Given the description of an element on the screen output the (x, y) to click on. 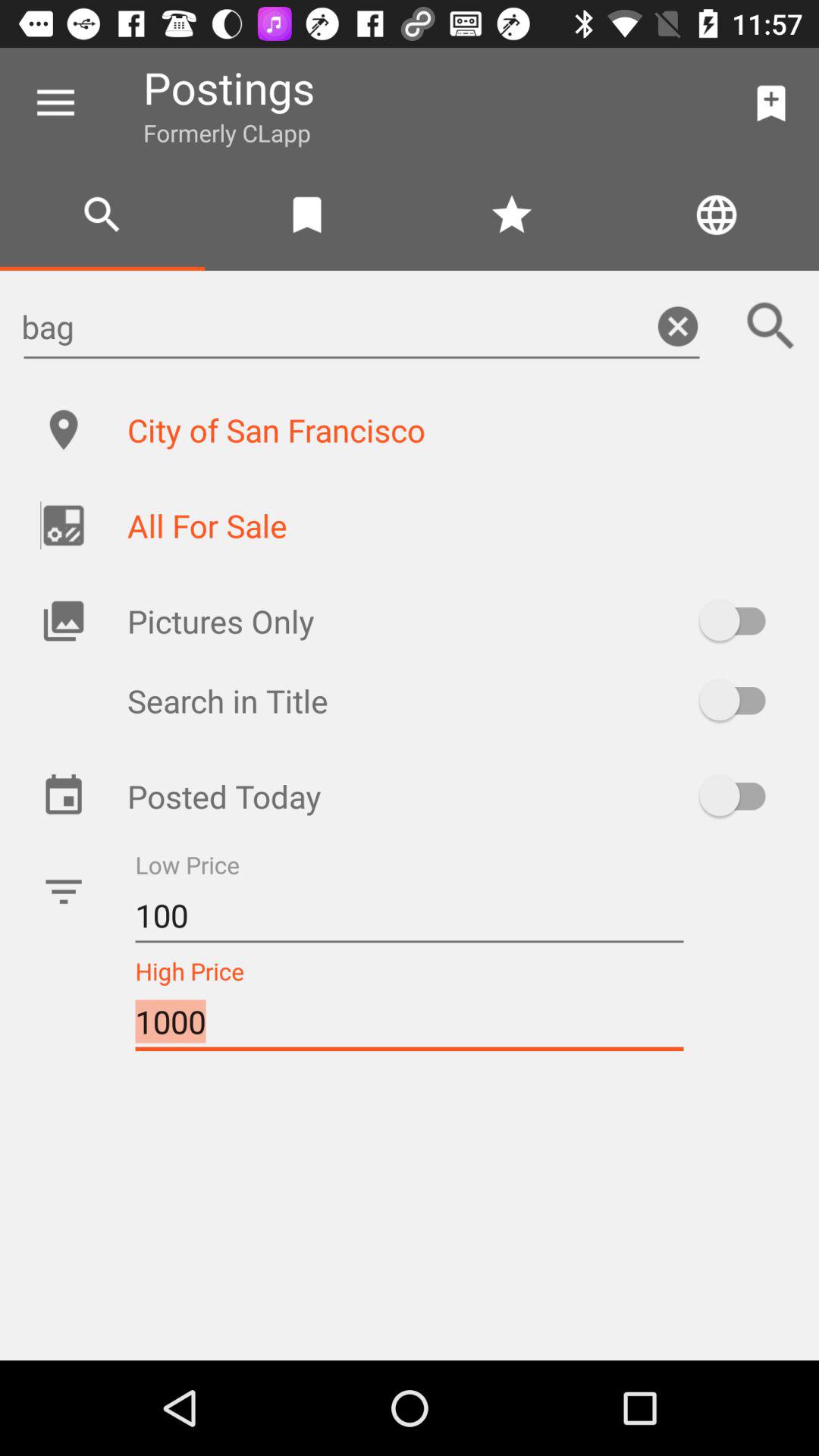
search box (771, 326)
